Given the description of an element on the screen output the (x, y) to click on. 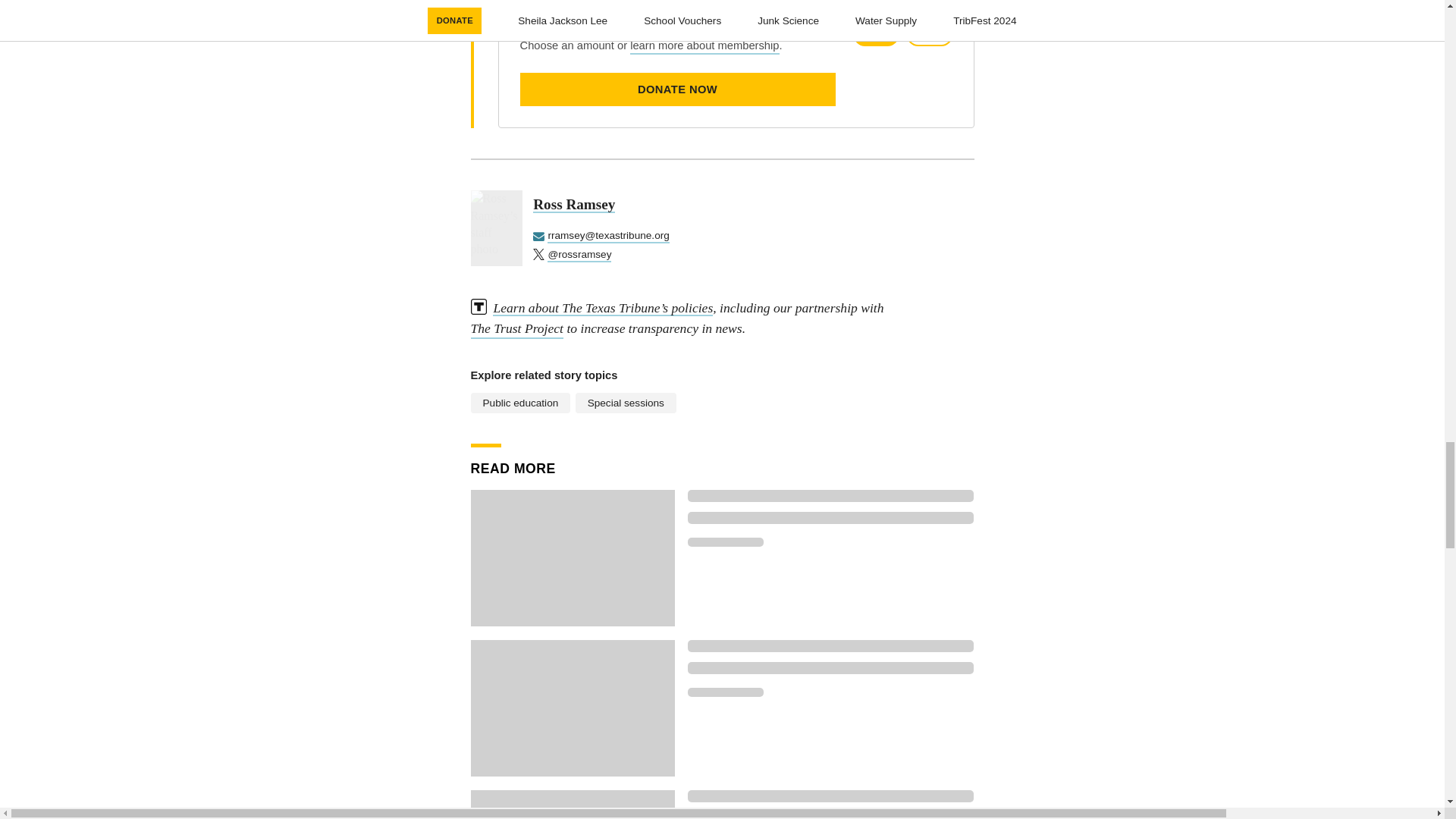
Loading indicator (830, 667)
Loading indicator (724, 691)
Loading indicator (830, 495)
Loading indicator (830, 517)
Loading indicator (830, 796)
Loading indicator (830, 645)
Loading indicator (724, 542)
Loading indicator (830, 815)
